Given the description of an element on the screen output the (x, y) to click on. 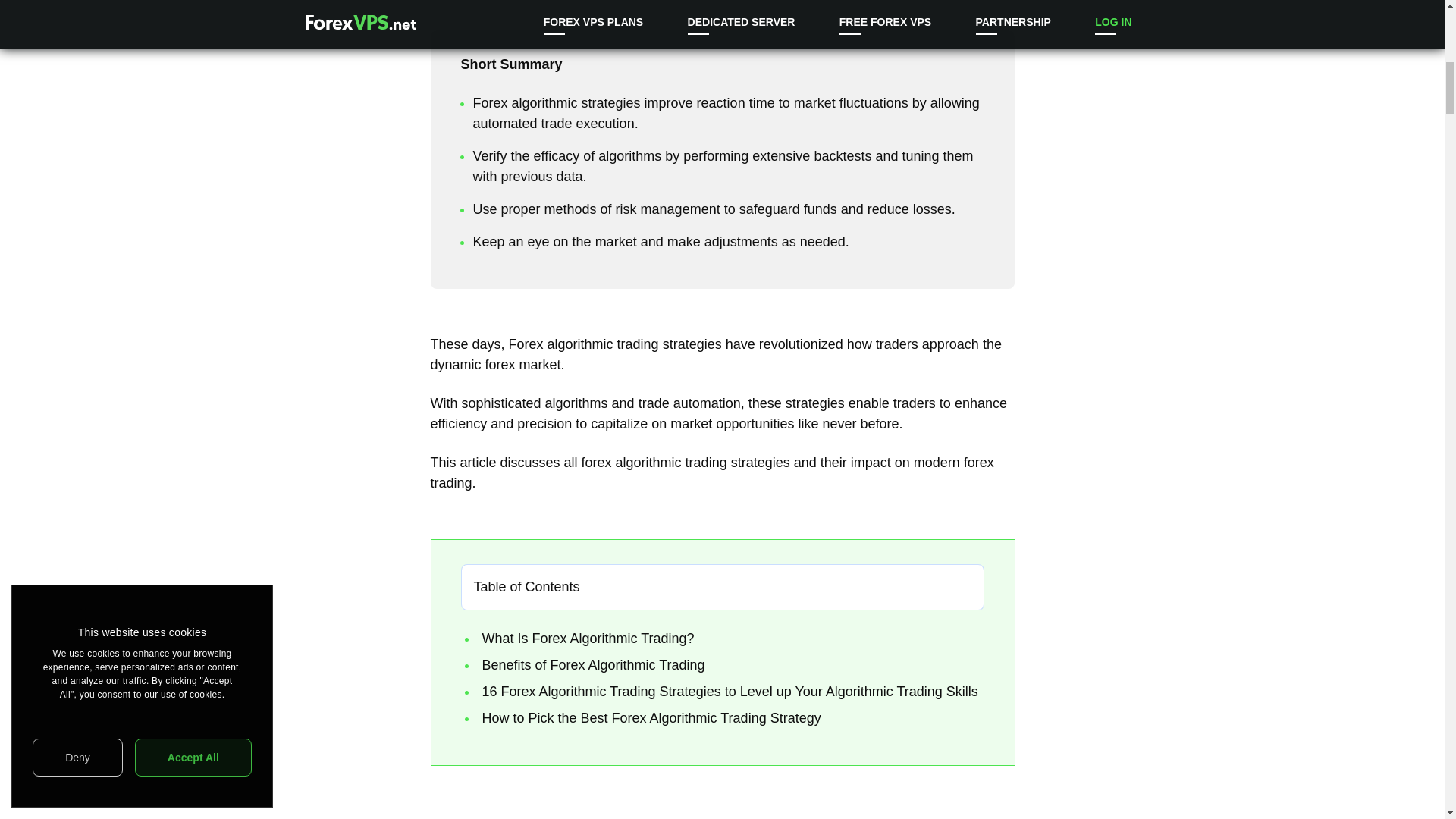
What Is Forex Algorithmic Trading? (587, 638)
Benefits of Forex Algorithmic Trading (592, 664)
How to Pick the Best Forex Algorithmic Trading Strategy  (653, 717)
